Given the description of an element on the screen output the (x, y) to click on. 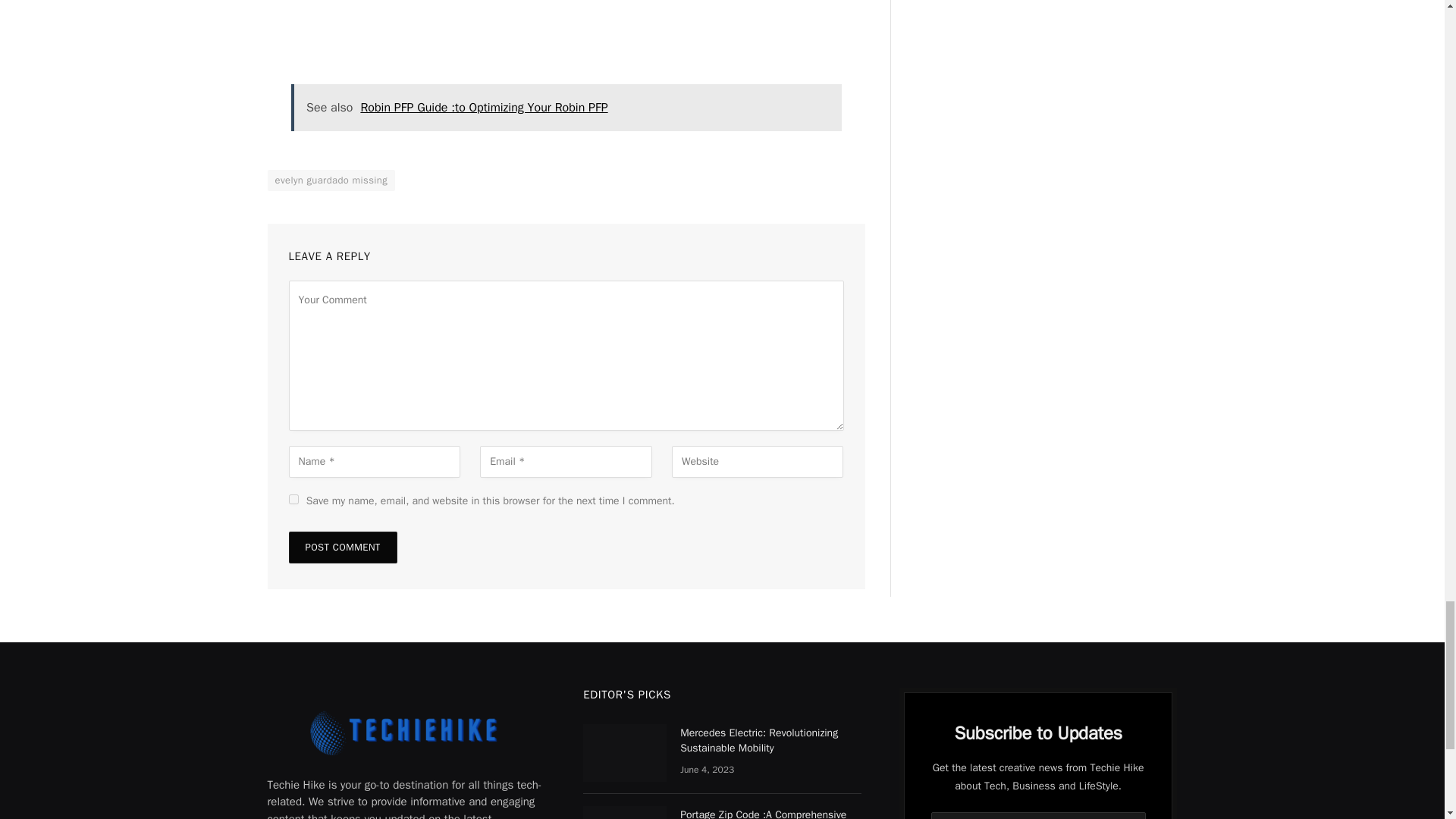
See also  Robin PFP Guide :to Optimizing Your Robin PFP (566, 107)
Post Comment (342, 547)
evelyn guardado missing (330, 179)
yes (293, 499)
Post Comment (342, 547)
